Given the description of an element on the screen output the (x, y) to click on. 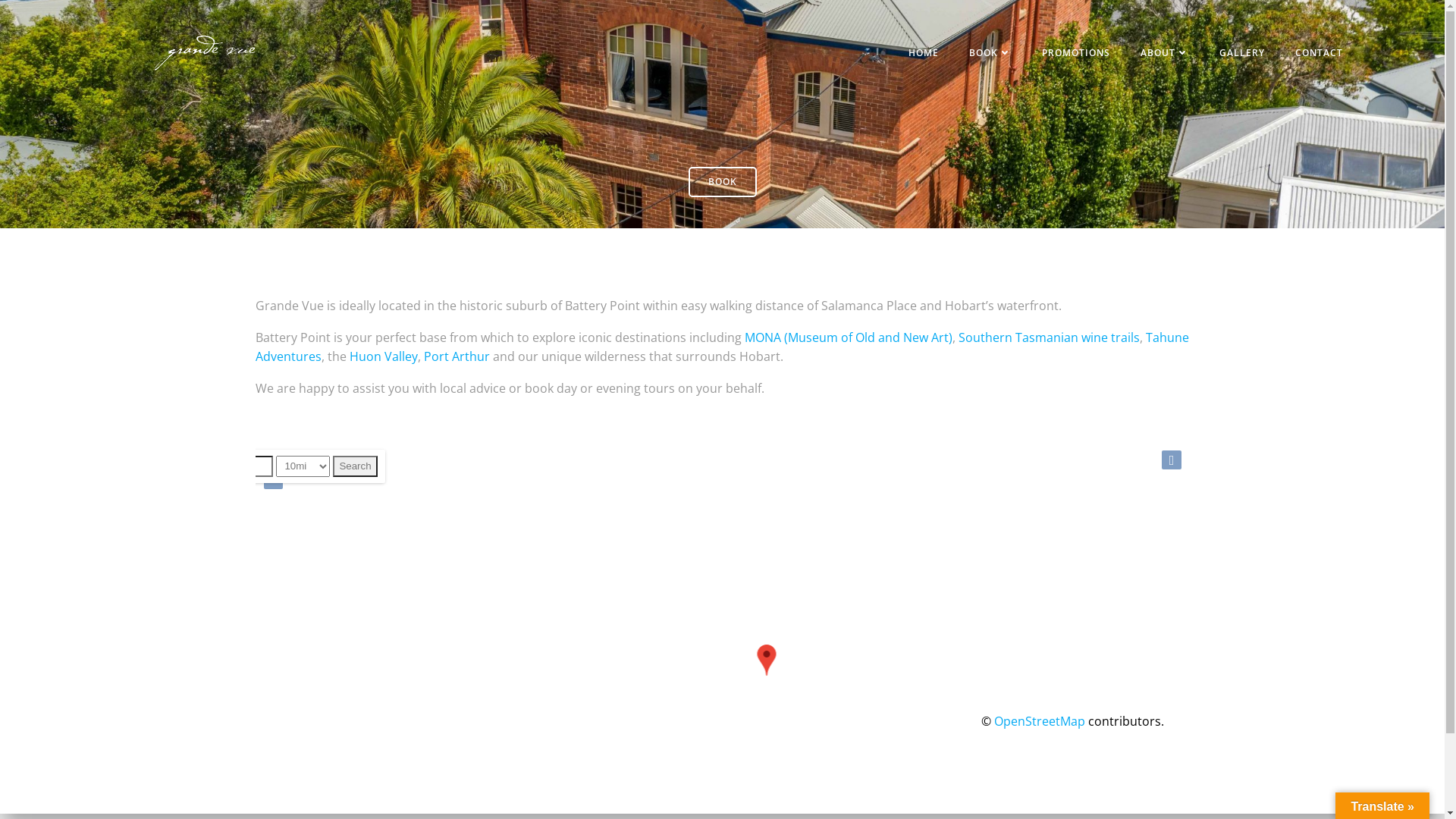
Huon Valley Element type: text (382, 356)
ABOUT Element type: text (1164, 52)
Search Element type: text (354, 465)
Tahune Adventures Element type: text (721, 347)
BOOK Element type: text (722, 181)
+ Element type: text (272, 459)
Southern Tasmanian wine trails Element type: text (1048, 337)
MONA (Museum of Old and New Art) Element type: text (848, 337)
GALLERY Element type: text (1241, 52)
CONTACT Element type: text (1319, 52)
BOOK Element type: text (990, 52)
OpenStreetMap Element type: text (1038, 720)
PROMOTIONS Element type: text (1075, 52)
Colibri Element type: text (856, 773)
HOME Element type: text (923, 52)
Port Arthur Element type: text (456, 356)
